Given the description of an element on the screen output the (x, y) to click on. 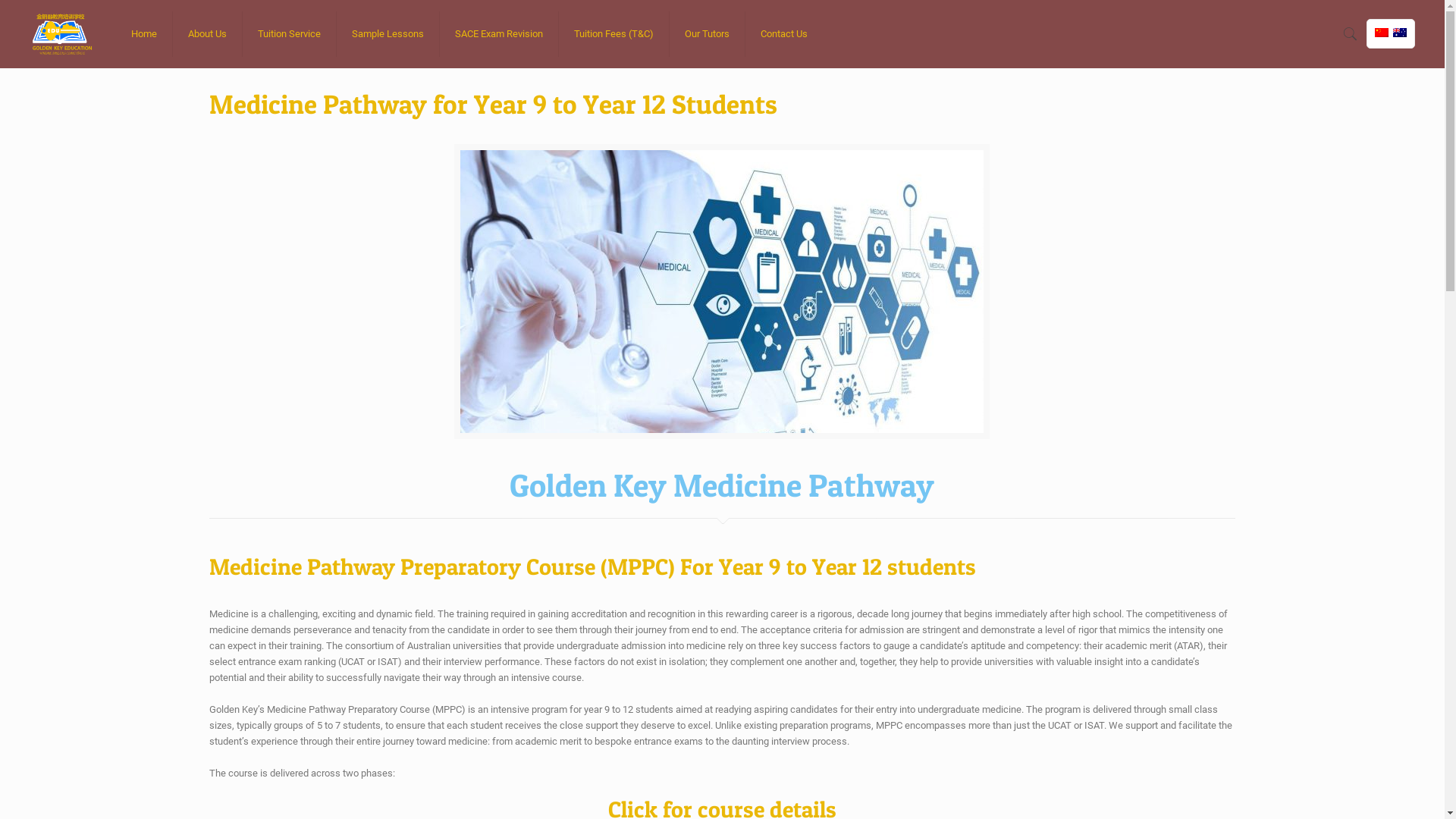
Sample Lessons Element type: text (387, 34)
Contact Us Element type: text (783, 34)
Tuition Service Element type: text (289, 34)
Tuition Fees (T&C) Element type: text (613, 34)
Our Tutors Element type: text (707, 34)
About Us Element type: text (207, 34)
Home Element type: text (144, 34)
Golden Key Tuition Centre Adelaide Element type: hover (61, 34)
SACE Exam Revision Element type: text (498, 34)
